Given the description of an element on the screen output the (x, y) to click on. 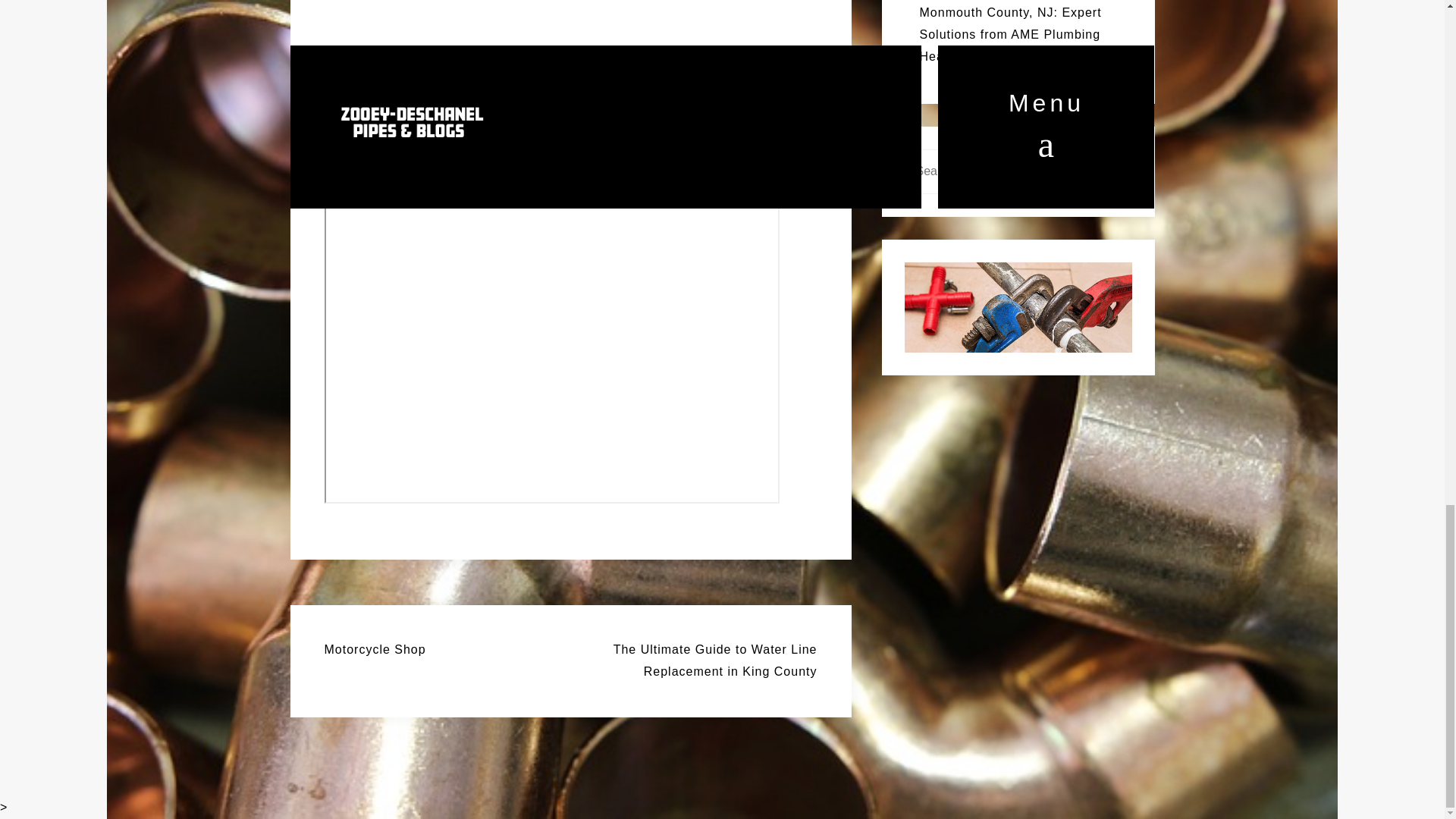
Motorcycle Shop (375, 649)
YouTube video player (551, 77)
The Ultimate Guide to Water Line Replacement in King County (714, 660)
